Given the description of an element on the screen output the (x, y) to click on. 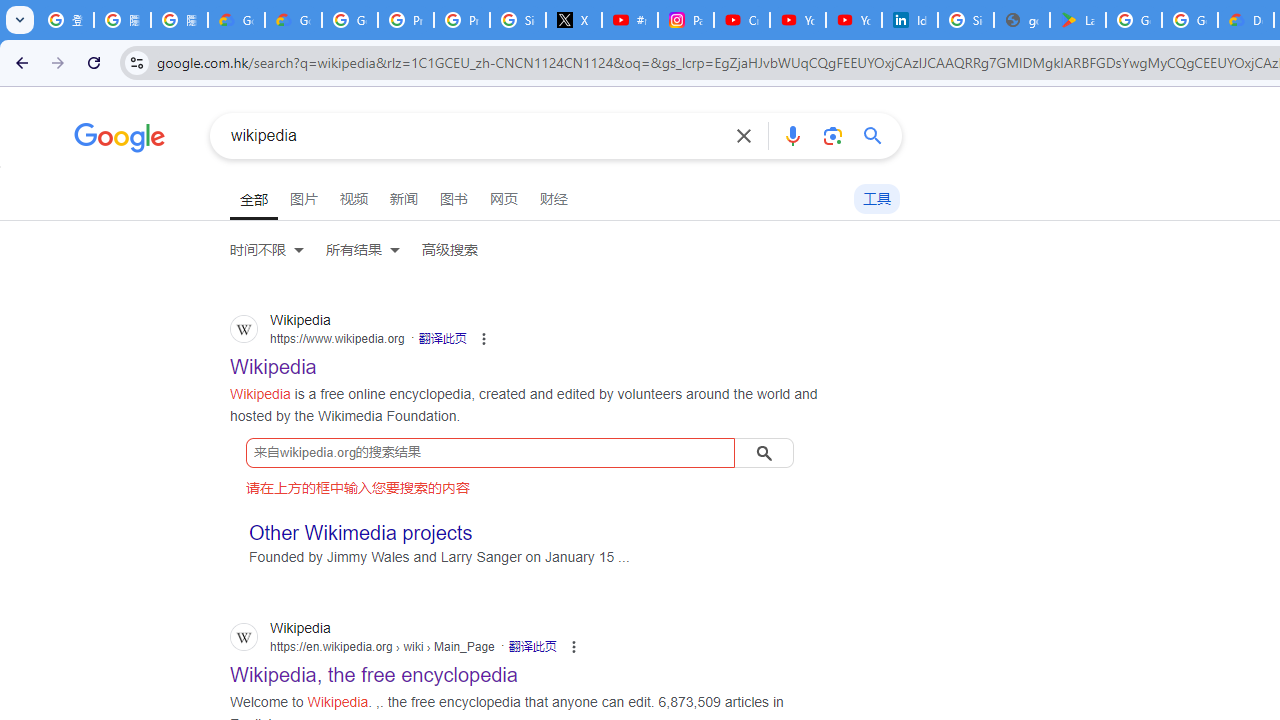
Privacy Help Center - Policies Help (405, 20)
Last Shelter: Survival - Apps on Google Play (1077, 20)
X (573, 20)
Google Workspace - Specific Terms (1190, 20)
google_privacy_policy_en.pdf (1021, 20)
